Given the description of an element on the screen output the (x, y) to click on. 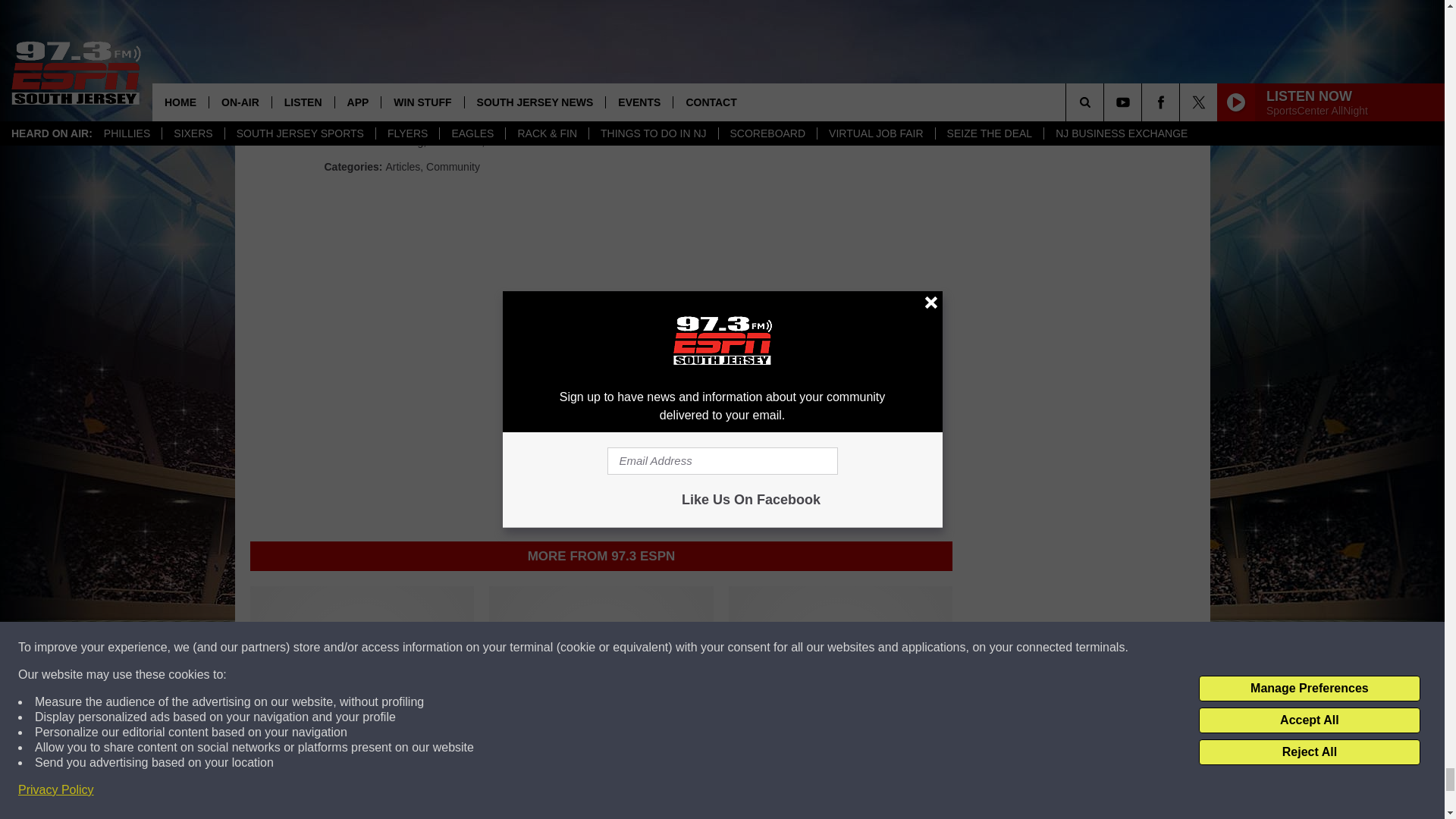
Email Address (600, 67)
